Given the description of an element on the screen output the (x, y) to click on. 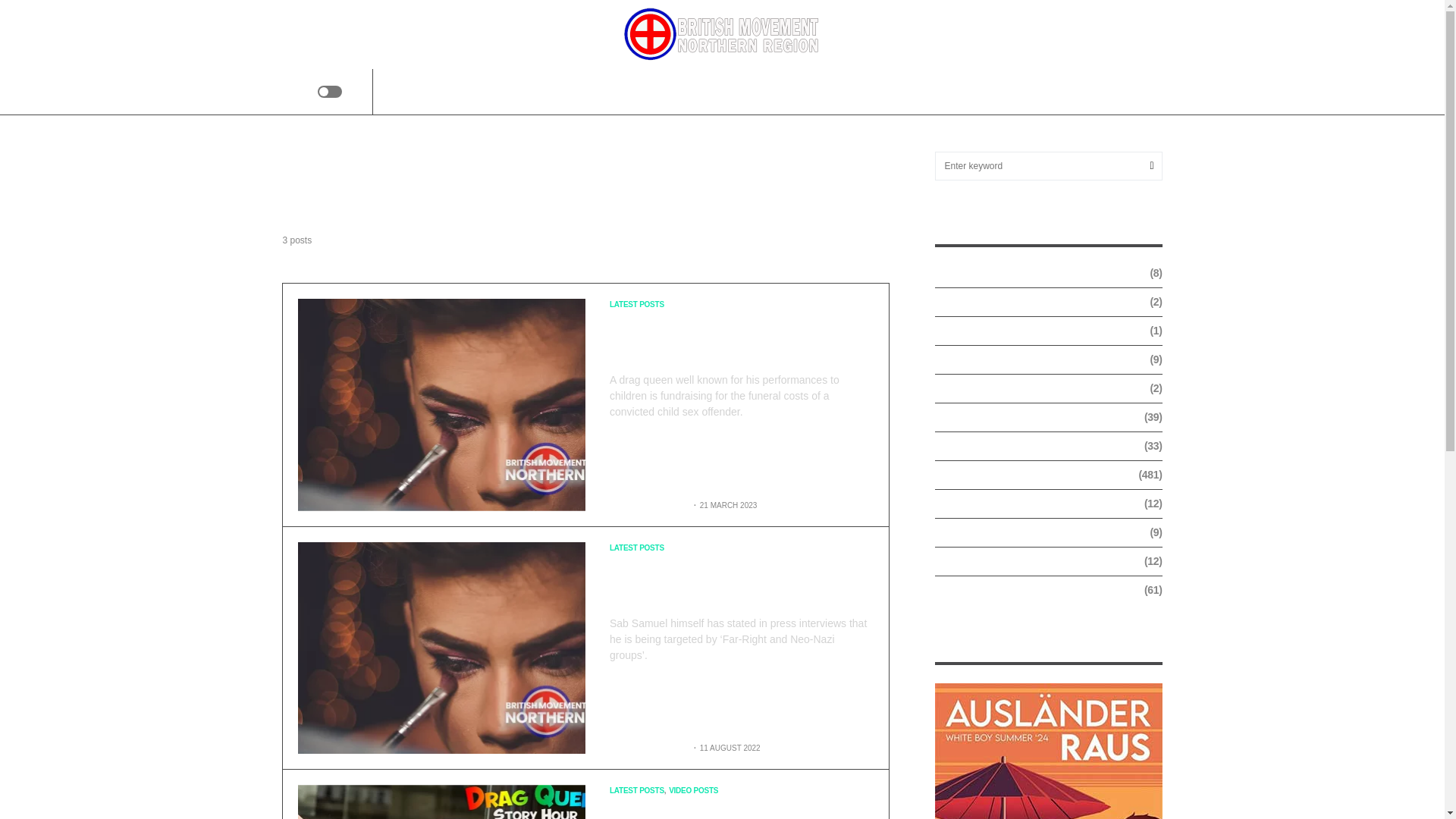
White Boy Summer 2024 (1047, 751)
Categories (640, 91)
Contact Us (903, 91)
Activity (577, 91)
View all posts by Editorial Team (648, 747)
View all posts by Editorial Team (648, 505)
Sunwheel Podcasts (732, 91)
The 14 Words (828, 91)
